Given the description of an element on the screen output the (x, y) to click on. 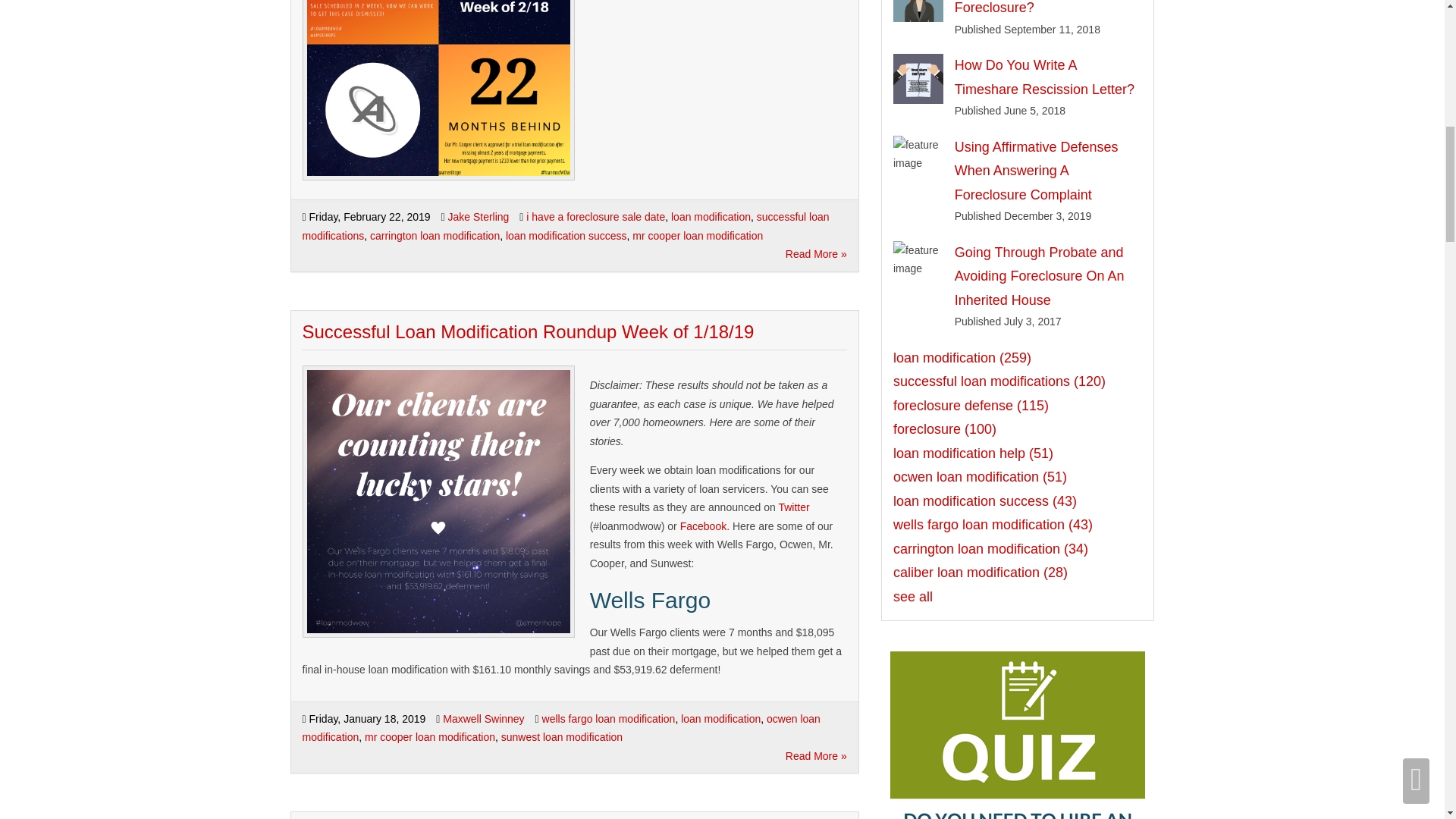
i have a foreclosure sale date (595, 216)
Jake Sterling (477, 216)
Facebook (702, 526)
loan modification success (566, 235)
carrington loan modification (434, 235)
successful loan modifications (564, 225)
Twitter (793, 507)
loan modification (711, 216)
mr cooper loan modification (696, 235)
